Given the description of an element on the screen output the (x, y) to click on. 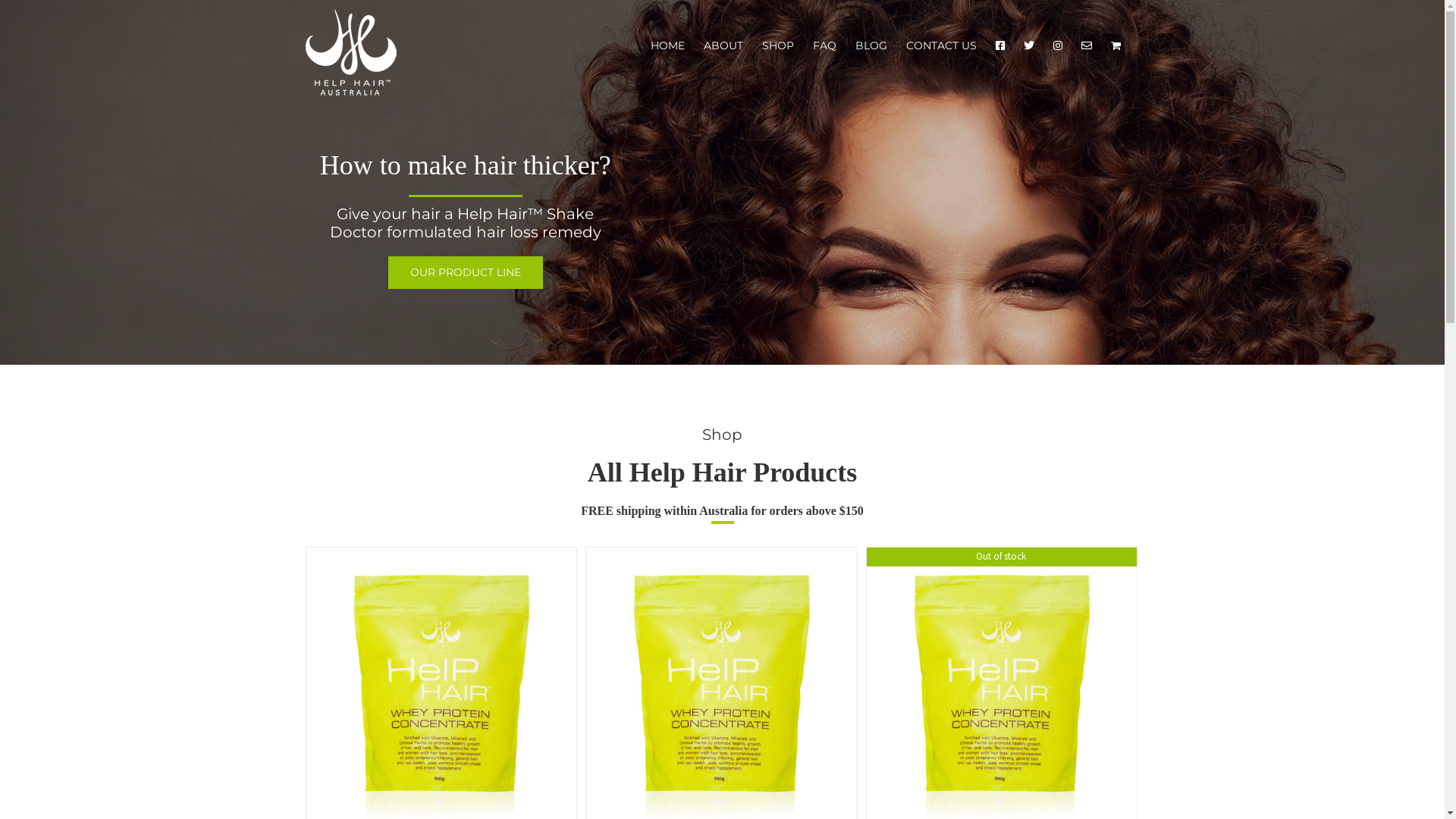
SHOP Element type: text (777, 45)
Out of stock Element type: text (1001, 682)
HOME Element type: text (667, 45)
ABOUT Element type: text (723, 45)
FAQ Element type: text (824, 45)
OUR PRODUCT LINE Element type: text (465, 272)
CONTACT US Element type: text (940, 45)
BLOG Element type: text (871, 45)
